Given the description of an element on the screen output the (x, y) to click on. 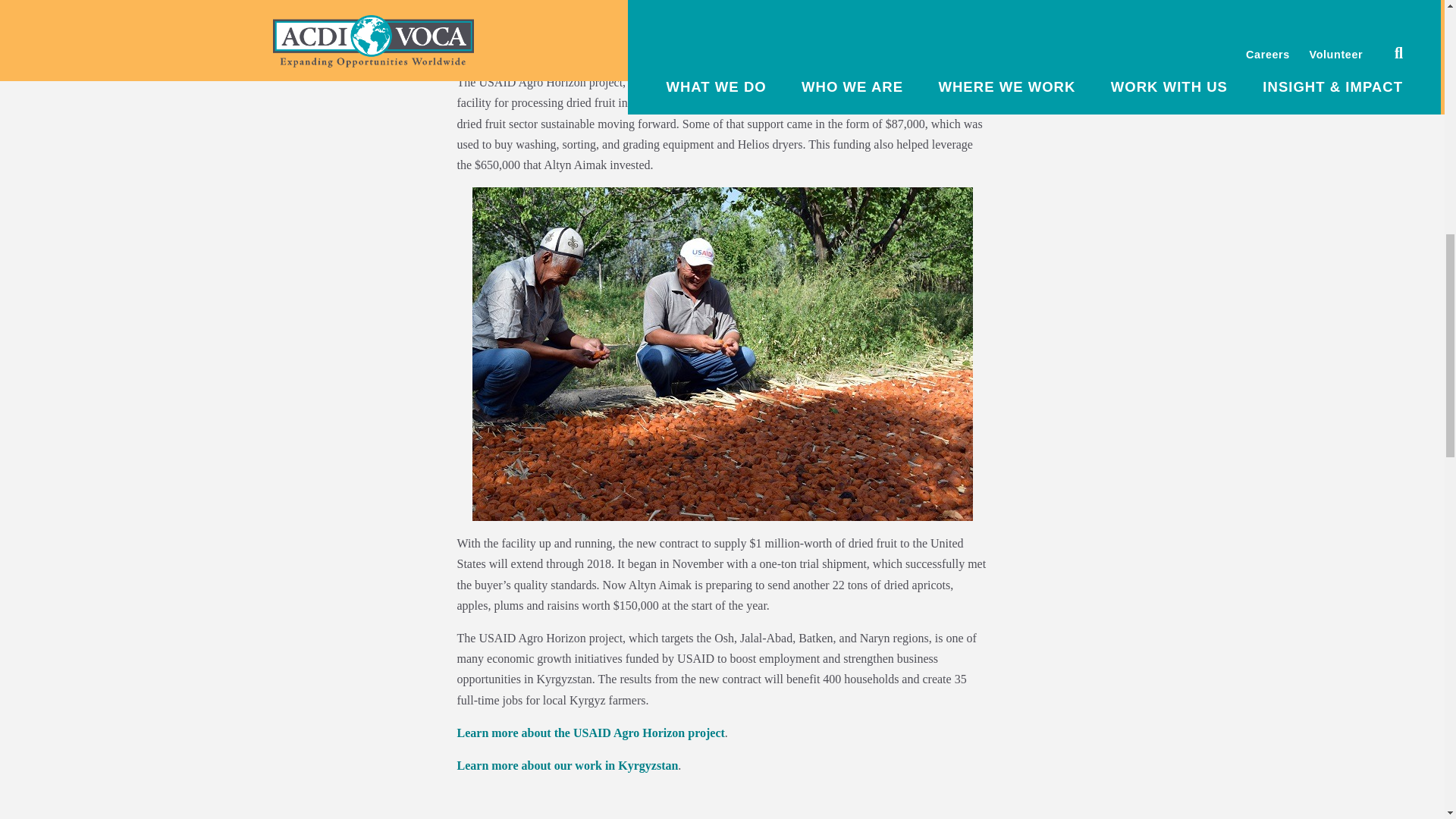
Learn more about our work in Kyrgyzstan (567, 765)
Learn more about the USAID Agro Horizon project (590, 732)
